Given the description of an element on the screen output the (x, y) to click on. 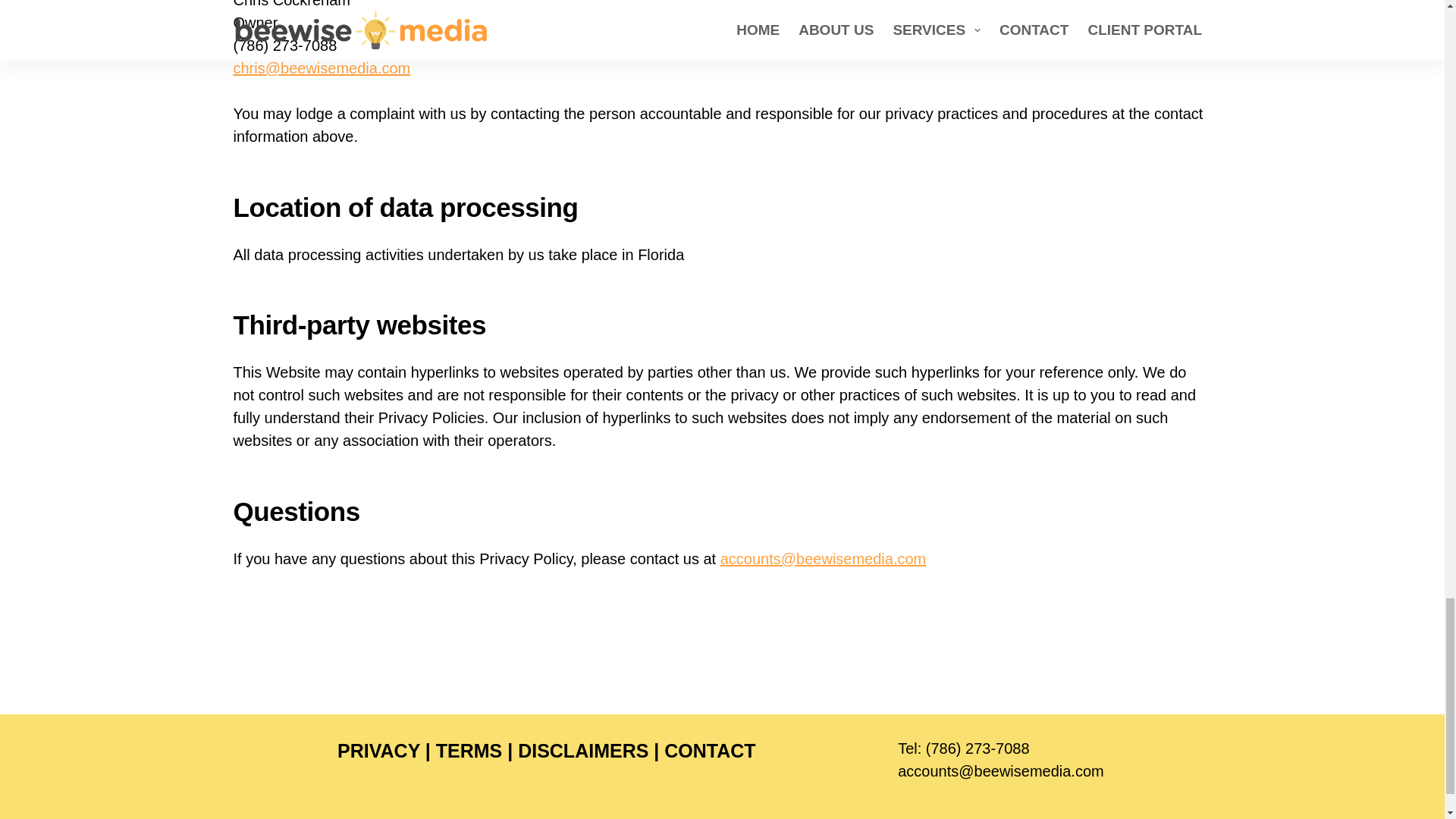
DISCLAIMERS (582, 750)
PRIVACY (378, 750)
CONTACT (709, 750)
TERMS (468, 750)
